Given the description of an element on the screen output the (x, y) to click on. 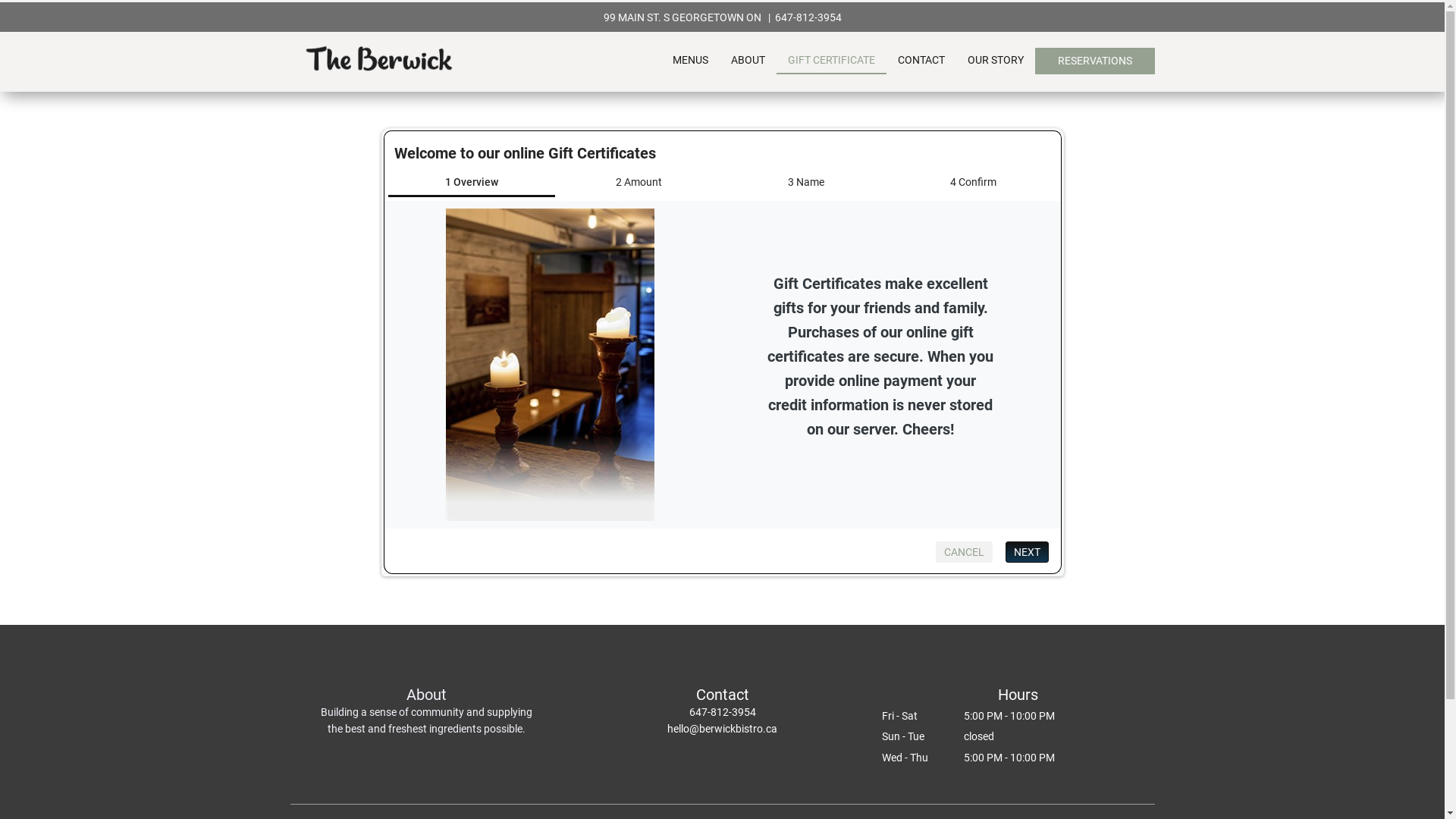
3 Name Element type: text (805, 183)
RESERVATIONS Element type: text (1094, 60)
hello@berwickbistro.ca Element type: text (722, 728)
CONTACT Element type: text (920, 60)
647-812-3954 Element type: text (721, 712)
4 Confirm Element type: text (973, 183)
CANCEL Element type: text (963, 551)
GIFT CERTIFICATE Element type: text (831, 60)
NEXT Element type: text (1026, 551)
OUR STORY Element type: text (994, 60)
ABOUT Element type: text (746, 60)
647-812-3954 Element type: text (808, 17)
MENUS Element type: text (690, 60)
2 Amount Element type: text (638, 183)
1 Overview Element type: text (471, 185)
